Given the description of an element on the screen output the (x, y) to click on. 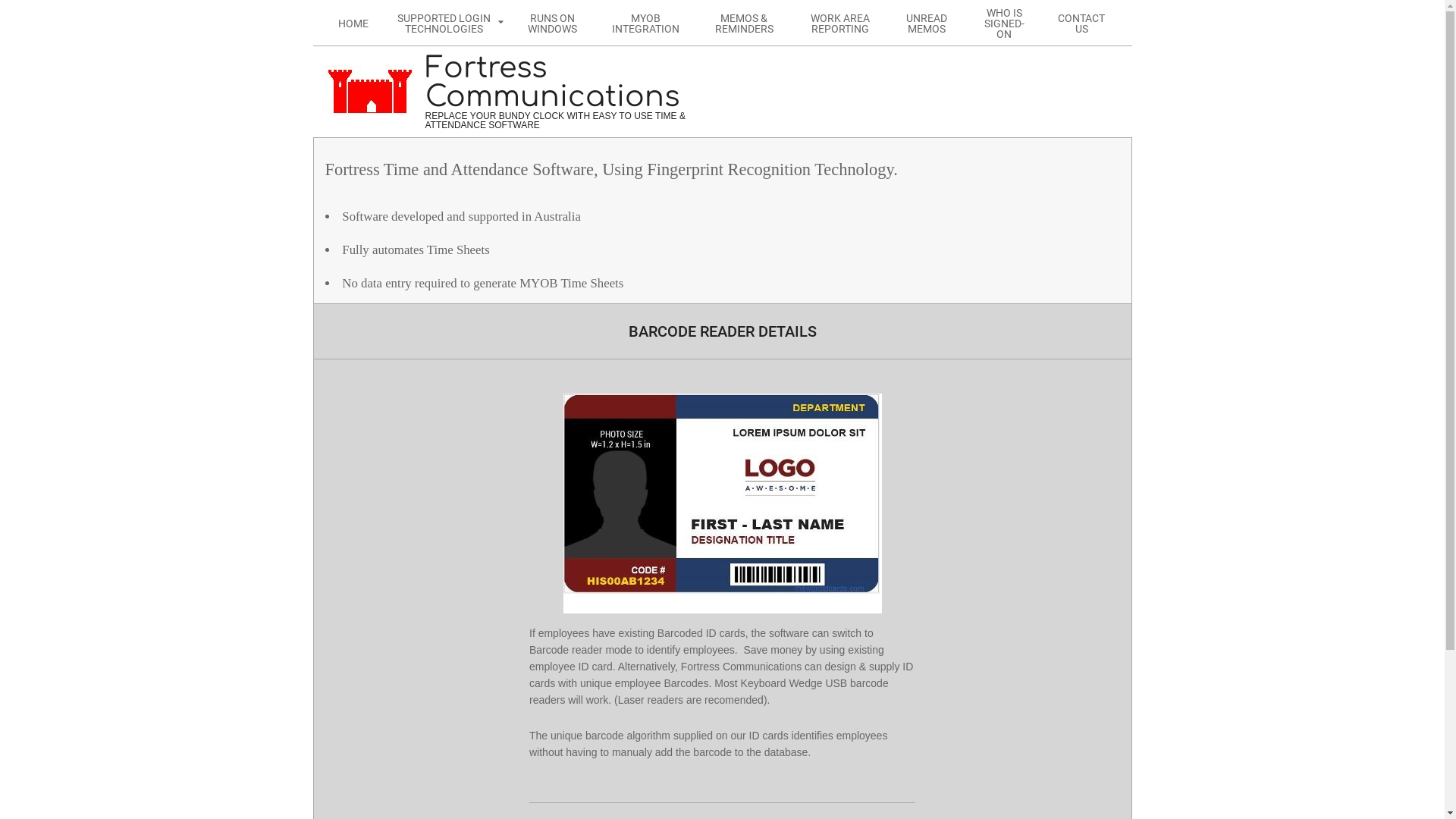
SUPPORTED LOGIN TECHNOLOGIES Element type: text (445, 22)
MEMOS & REMINDERS Element type: text (743, 22)
UNREAD MEMOS Element type: text (926, 22)
WHO IS SIGNED-ON Element type: text (1004, 22)
RUNS ON WINDOWS Element type: text (552, 22)
Fortress Communications Element type: text (567, 82)
WORK AREA REPORTING Element type: text (839, 22)
HOME Element type: text (353, 22)
CONTACT US Element type: text (1081, 22)
MYOB INTEGRATION Element type: text (645, 22)
